Given the description of an element on the screen output the (x, y) to click on. 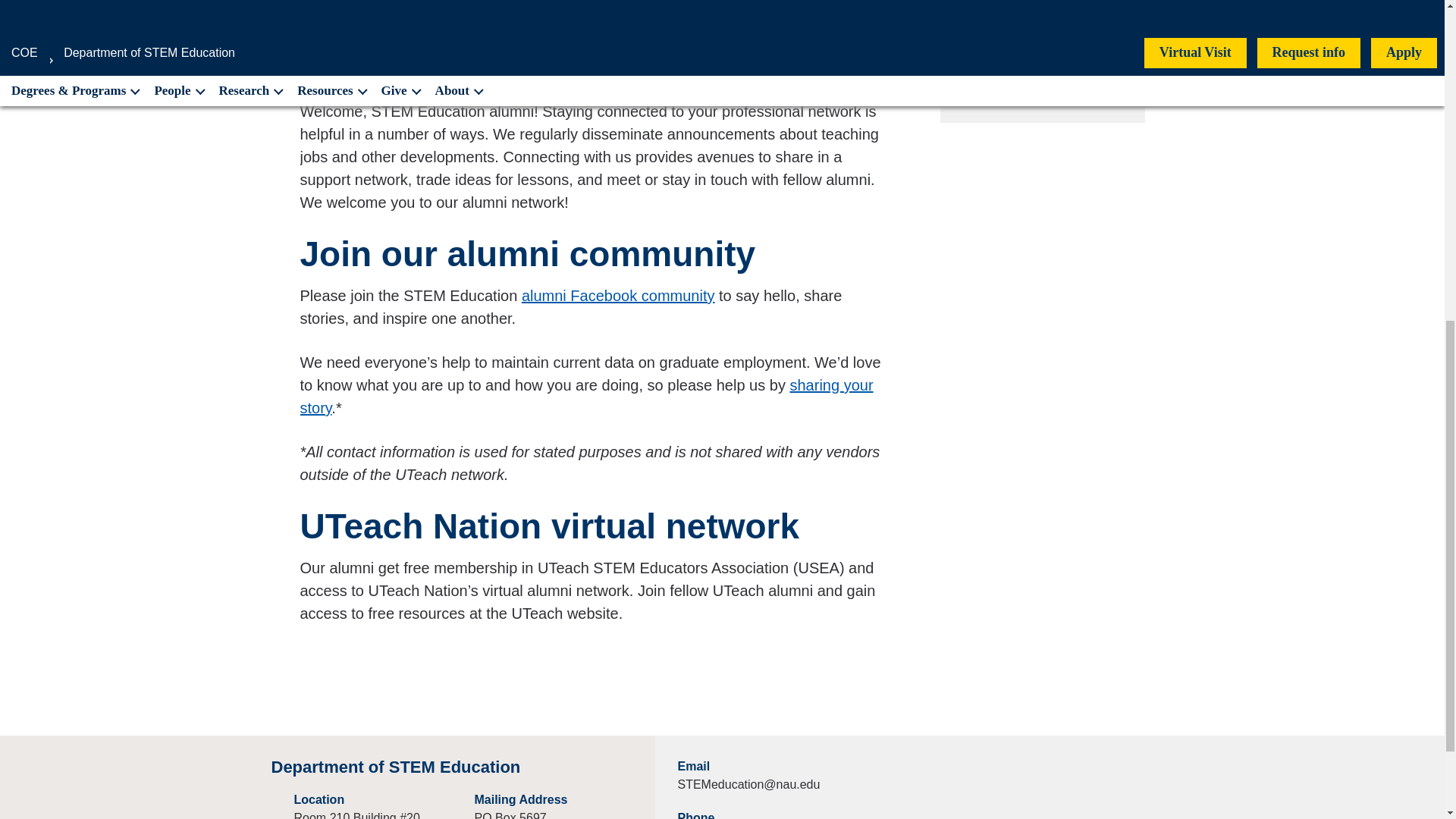
Email Address (1041, 41)
Telephone Number (1041, 86)
